Given the description of an element on the screen output the (x, y) to click on. 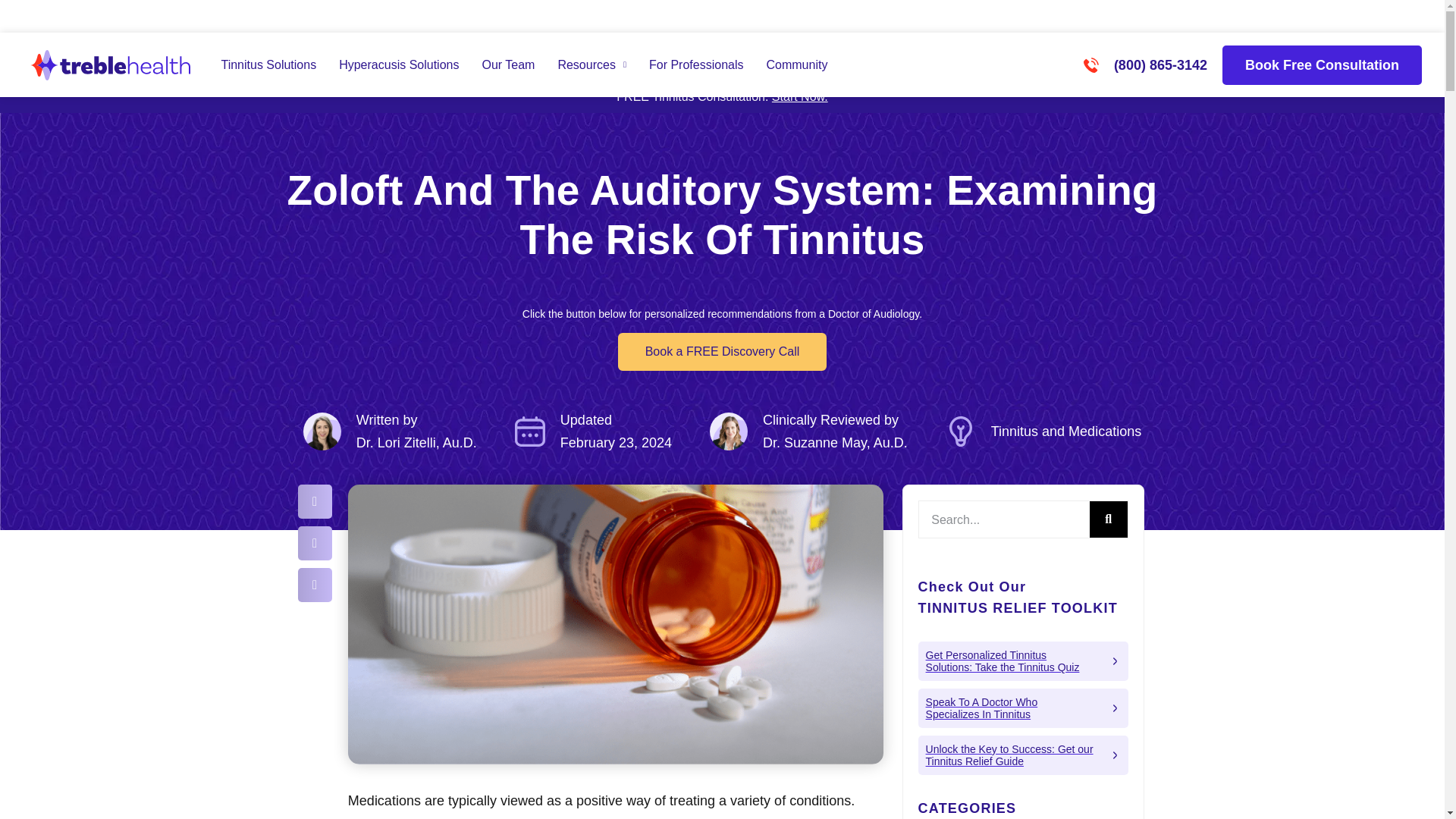
Tinnitus Solutions (268, 64)
Our Team (507, 64)
Hyperacusis Solutions (398, 64)
Community (796, 64)
Resources (591, 64)
For Professionals (696, 64)
Book Free Consultation (1322, 65)
